Given the description of an element on the screen output the (x, y) to click on. 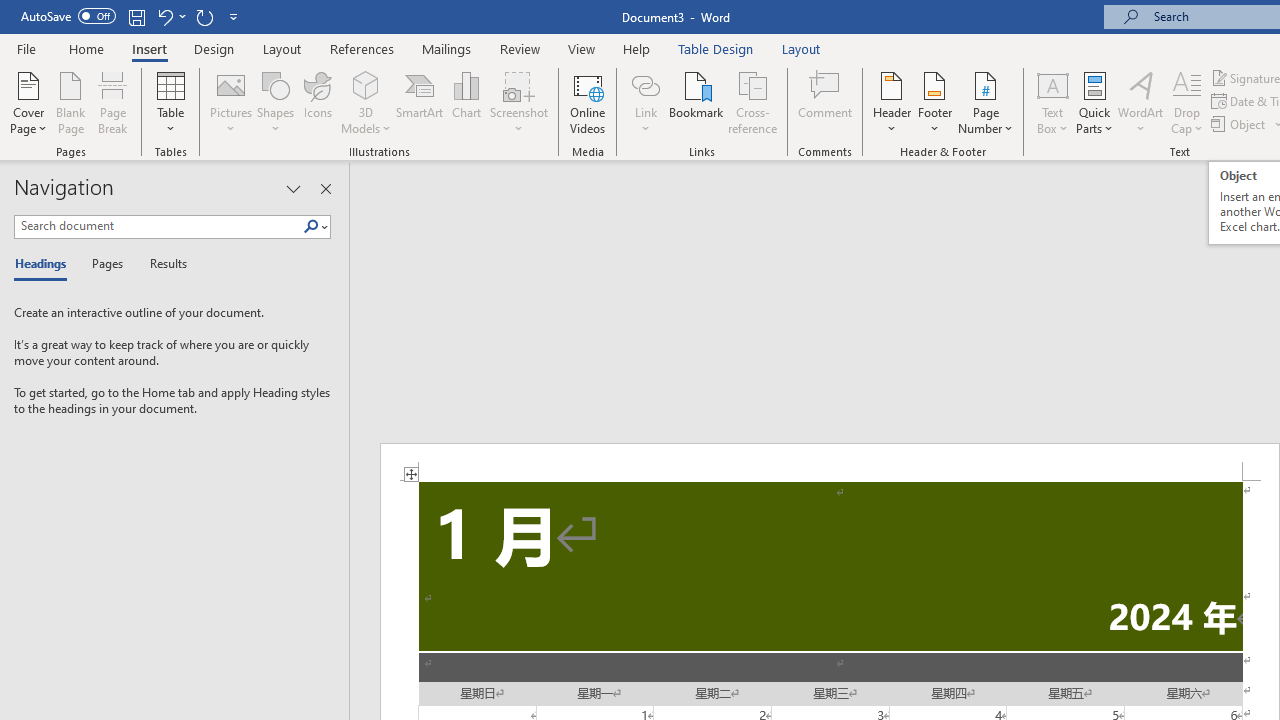
Comment (825, 102)
Pictures (230, 102)
Search document (157, 226)
Header -Section 1- (830, 461)
Shapes (275, 102)
3D Models (366, 84)
Cover Page (28, 102)
Header (891, 102)
